Given the description of an element on the screen output the (x, y) to click on. 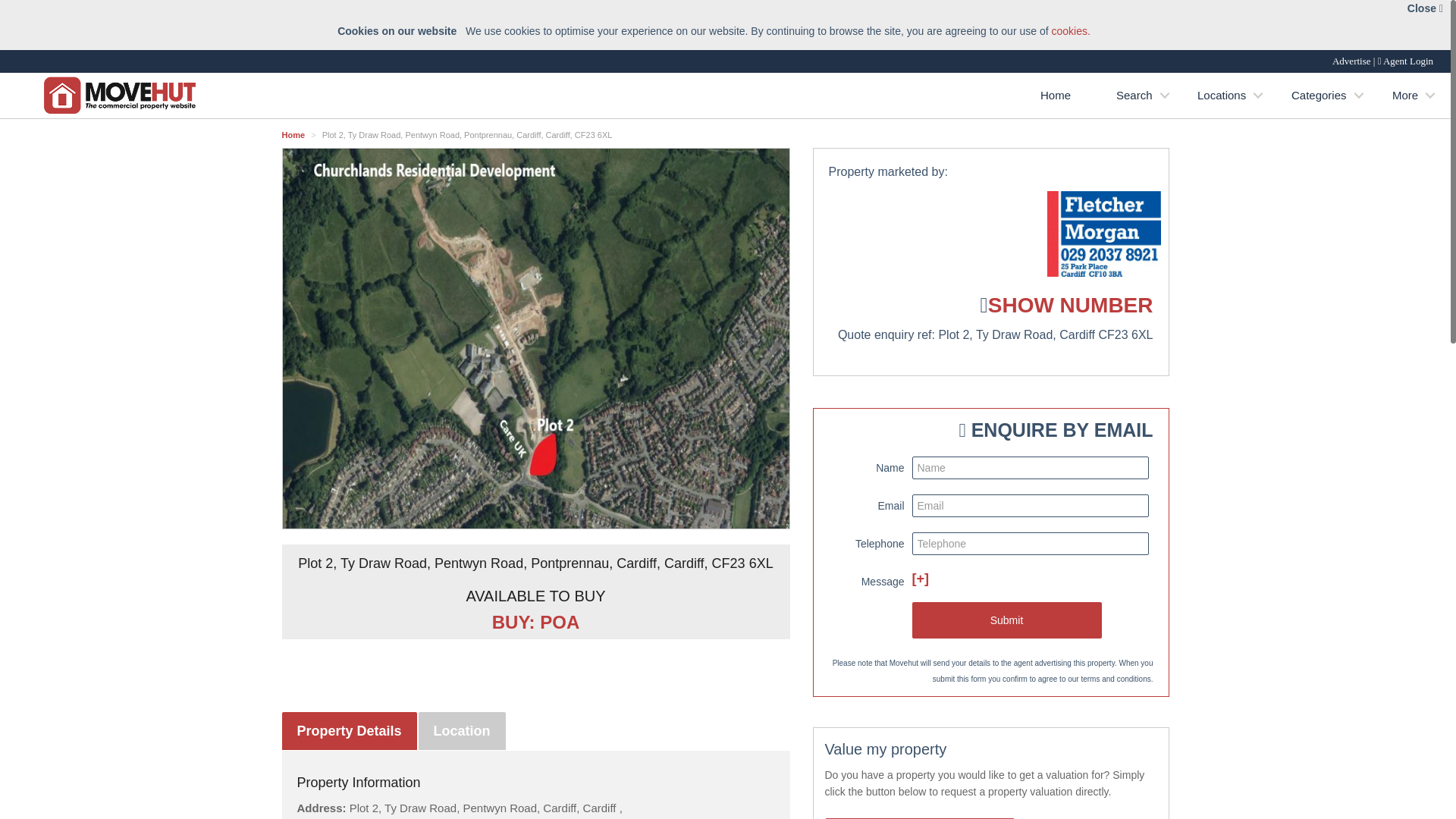
Locations (1221, 94)
Home (1055, 94)
Categories (1319, 94)
More (1405, 94)
cookies. (1070, 30)
Agent Login (1407, 60)
Advertise (1351, 60)
Search (1133, 94)
